Given the description of an element on the screen output the (x, y) to click on. 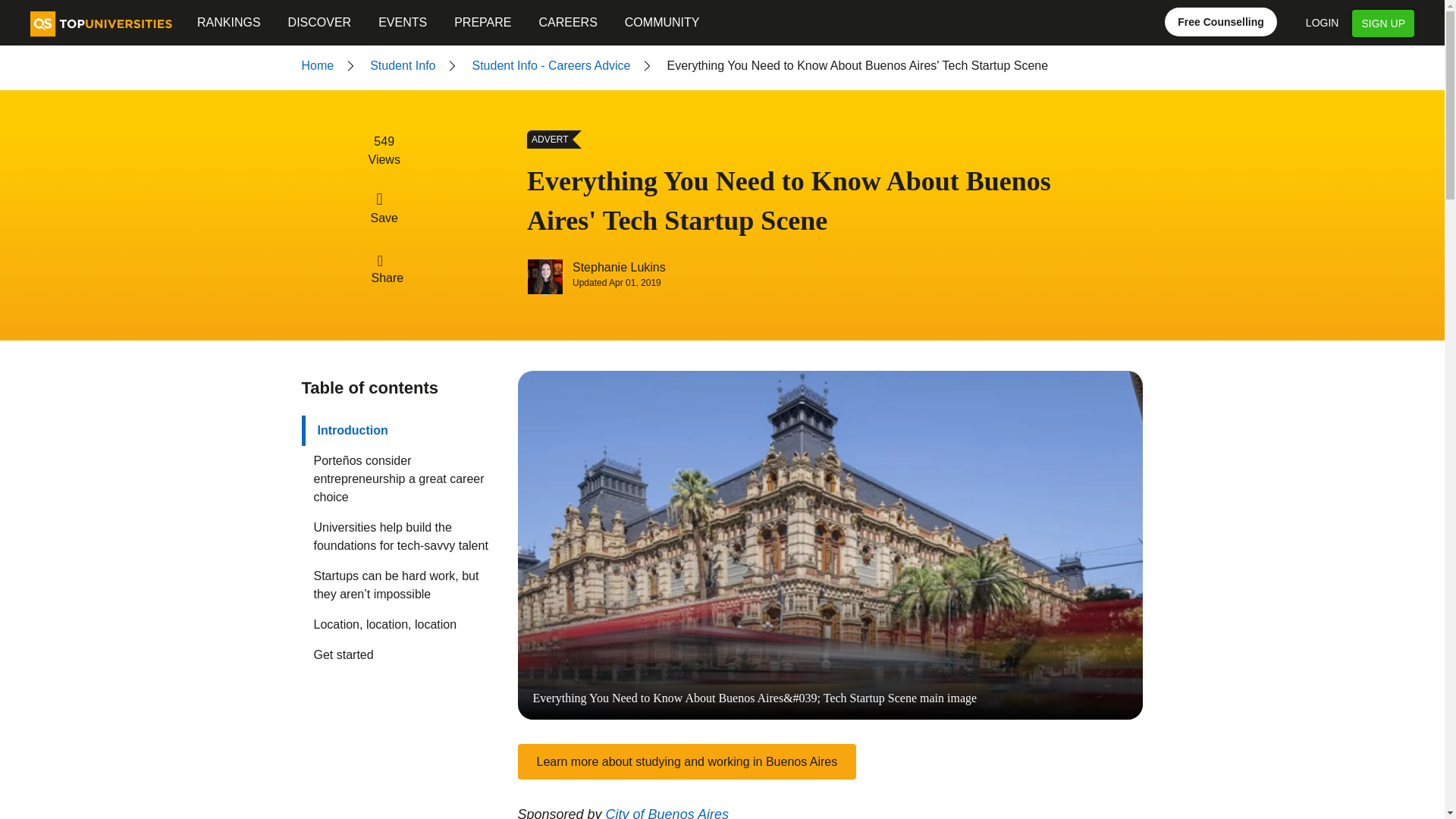
DISCOVER (320, 22)
Learn more about studying and working in Buenos Aires (686, 761)
RANKINGS (228, 22)
EVENTS (402, 22)
